Given the description of an element on the screen output the (x, y) to click on. 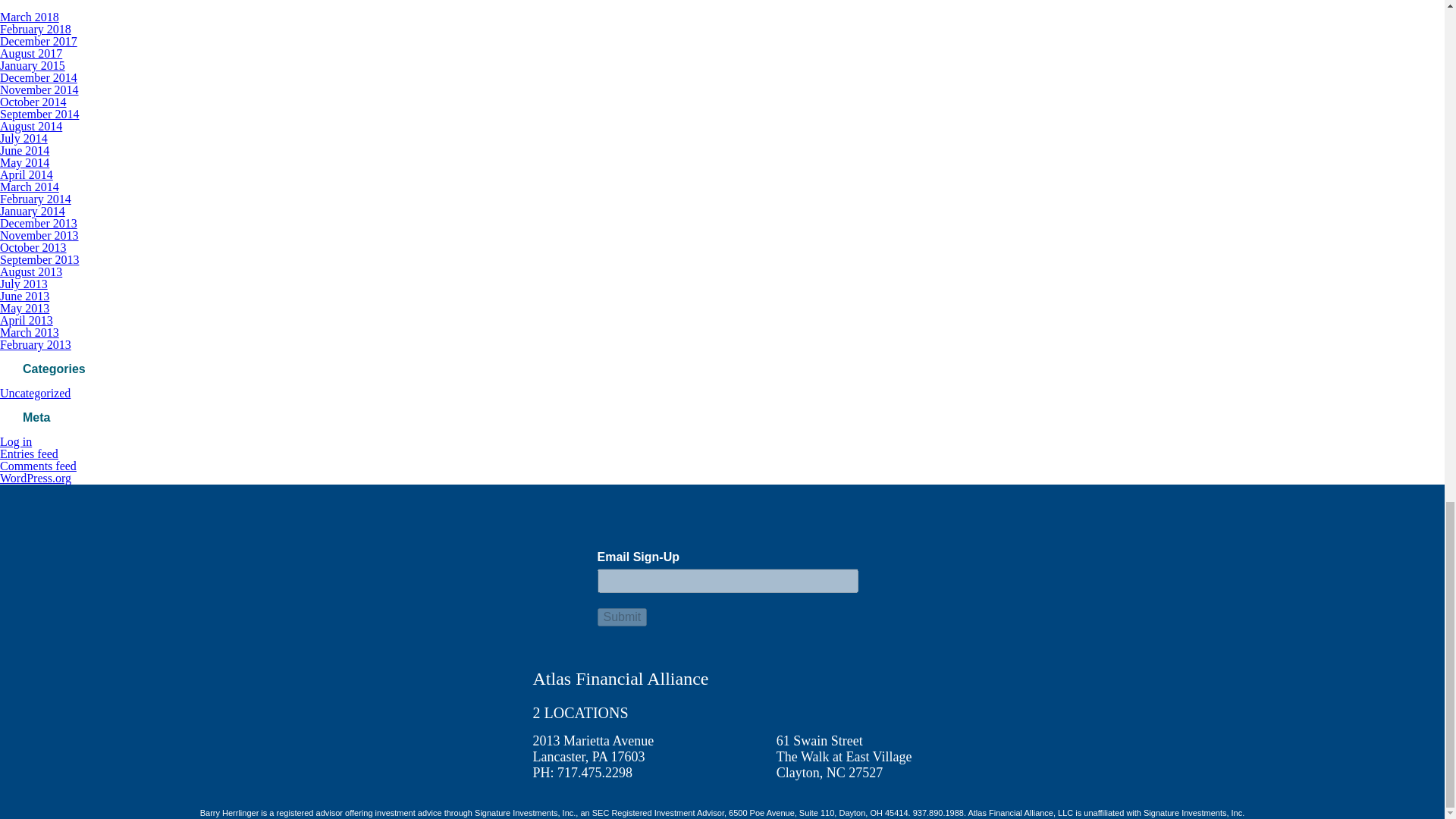
October 2014 (33, 101)
March 2018 (29, 16)
January 2015 (32, 65)
December 2014 (38, 77)
November 2014 (39, 89)
February 2018 (35, 29)
August 2014 (31, 125)
August 2017 (31, 52)
December 2017 (38, 41)
July 2014 (24, 137)
